Given the description of an element on the screen output the (x, y) to click on. 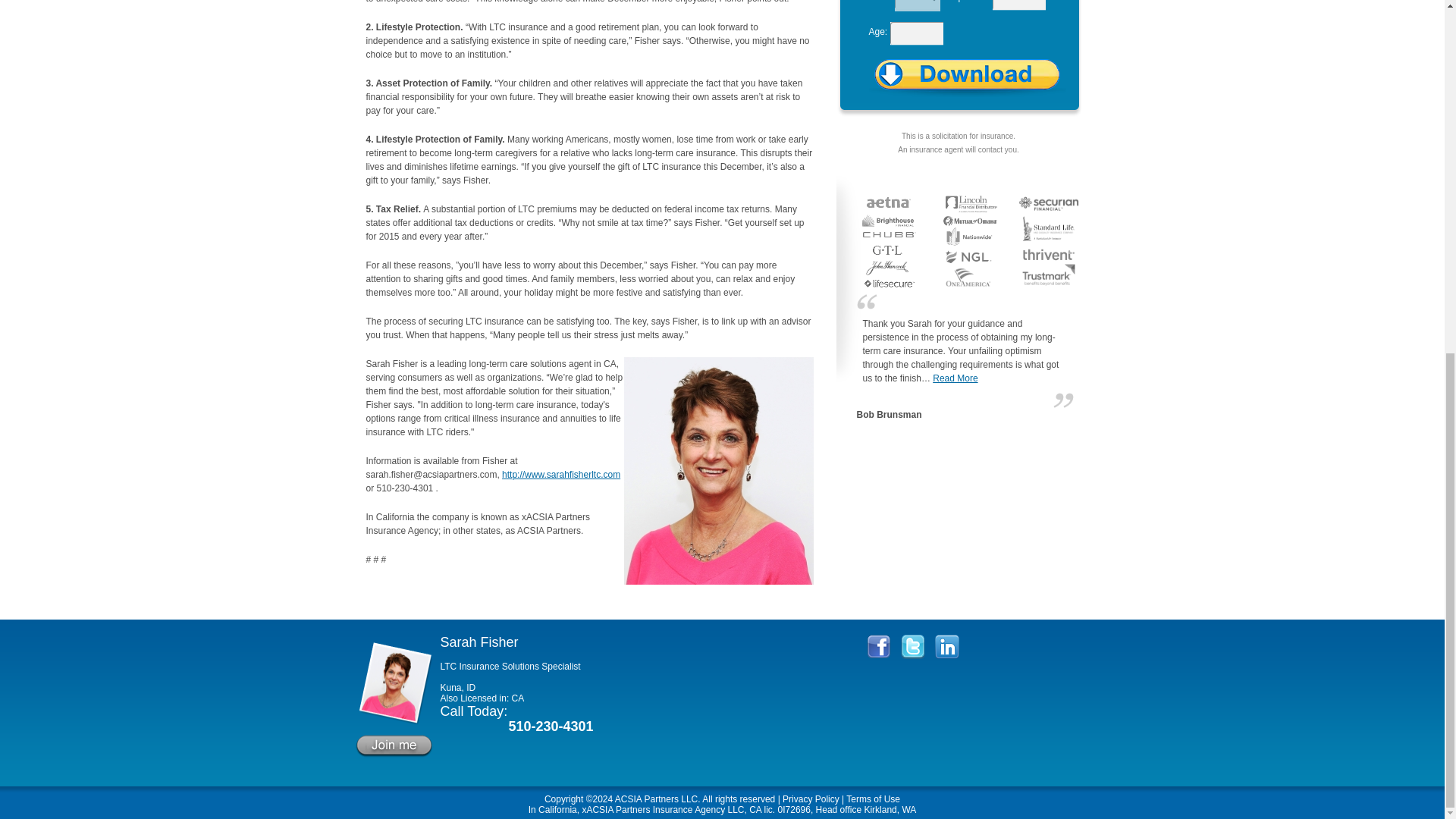
510-230-4301 (550, 726)
Terms of Use (872, 798)
Read More (954, 378)
long term care insurance (655, 798)
Privacy Policy (811, 798)
ACSIA Partners LLC (655, 798)
